Given the description of an element on the screen output the (x, y) to click on. 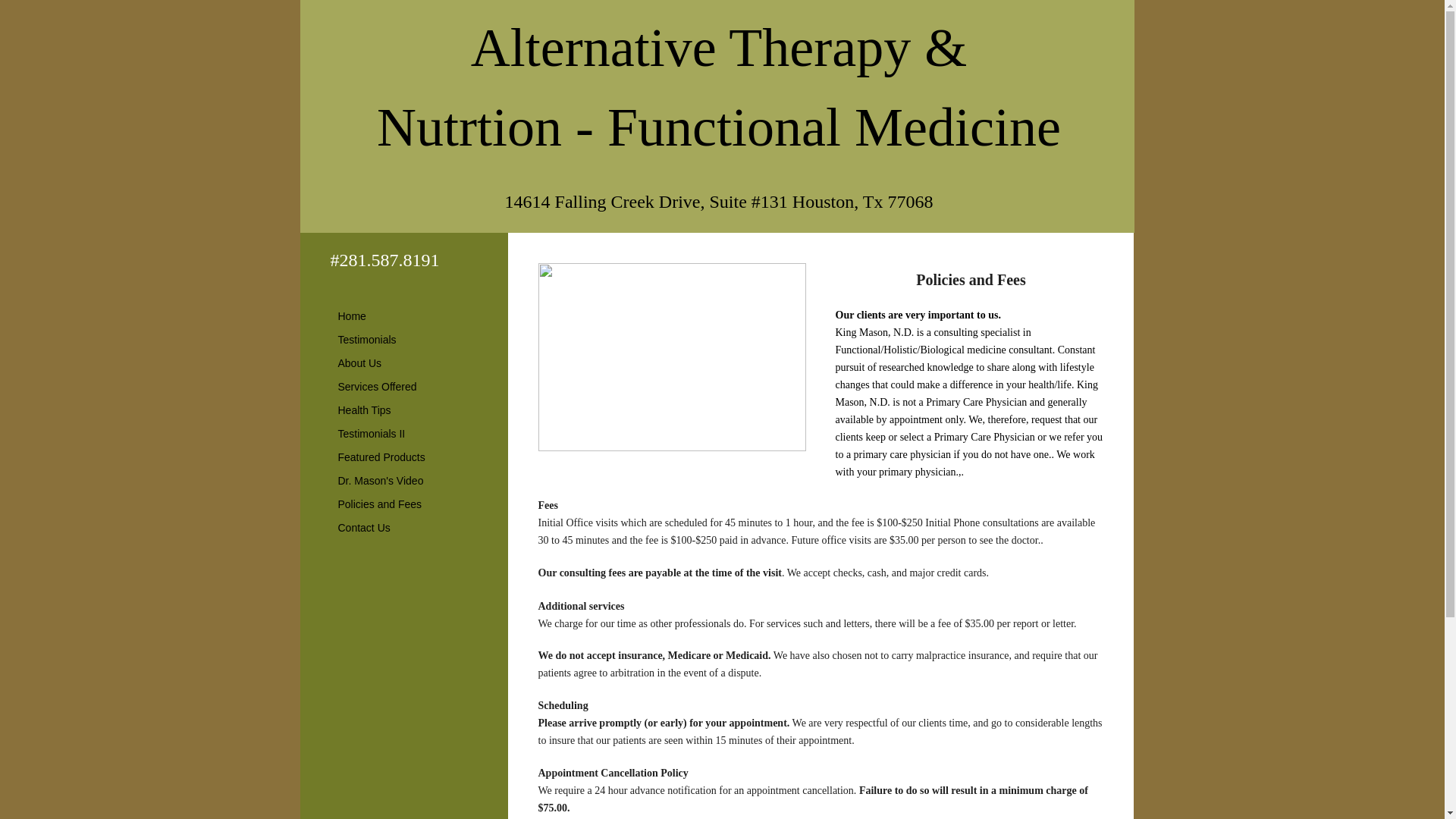
About Us (360, 362)
Services Offered (377, 386)
Home (352, 315)
Health Tips (364, 409)
Policies and Fees (379, 504)
Contact Us (363, 527)
Dr. Mason's Video (380, 480)
Featured Products (381, 456)
Testimonials (367, 339)
Testimonials II (371, 433)
